Given the description of an element on the screen output the (x, y) to click on. 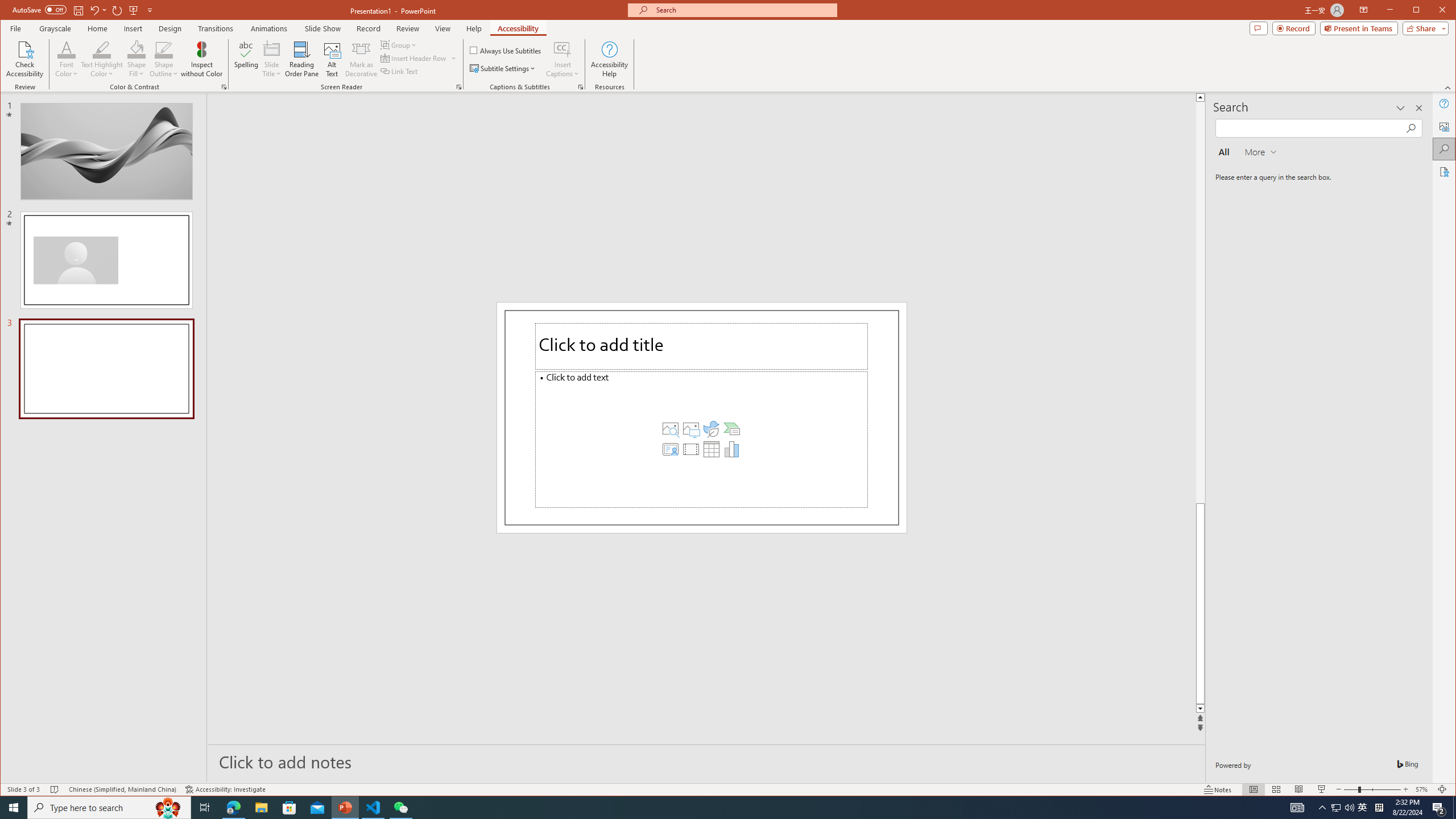
Zoom 57% (1422, 789)
Insert an Icon (710, 428)
AutomationID: 4105 (1297, 807)
Insert Table (710, 449)
Insert Captions (562, 59)
PowerPoint - 1 running window (345, 807)
Text Highlight Color (102, 48)
Show desktop (1454, 807)
Slide Title (271, 59)
